Given the description of an element on the screen output the (x, y) to click on. 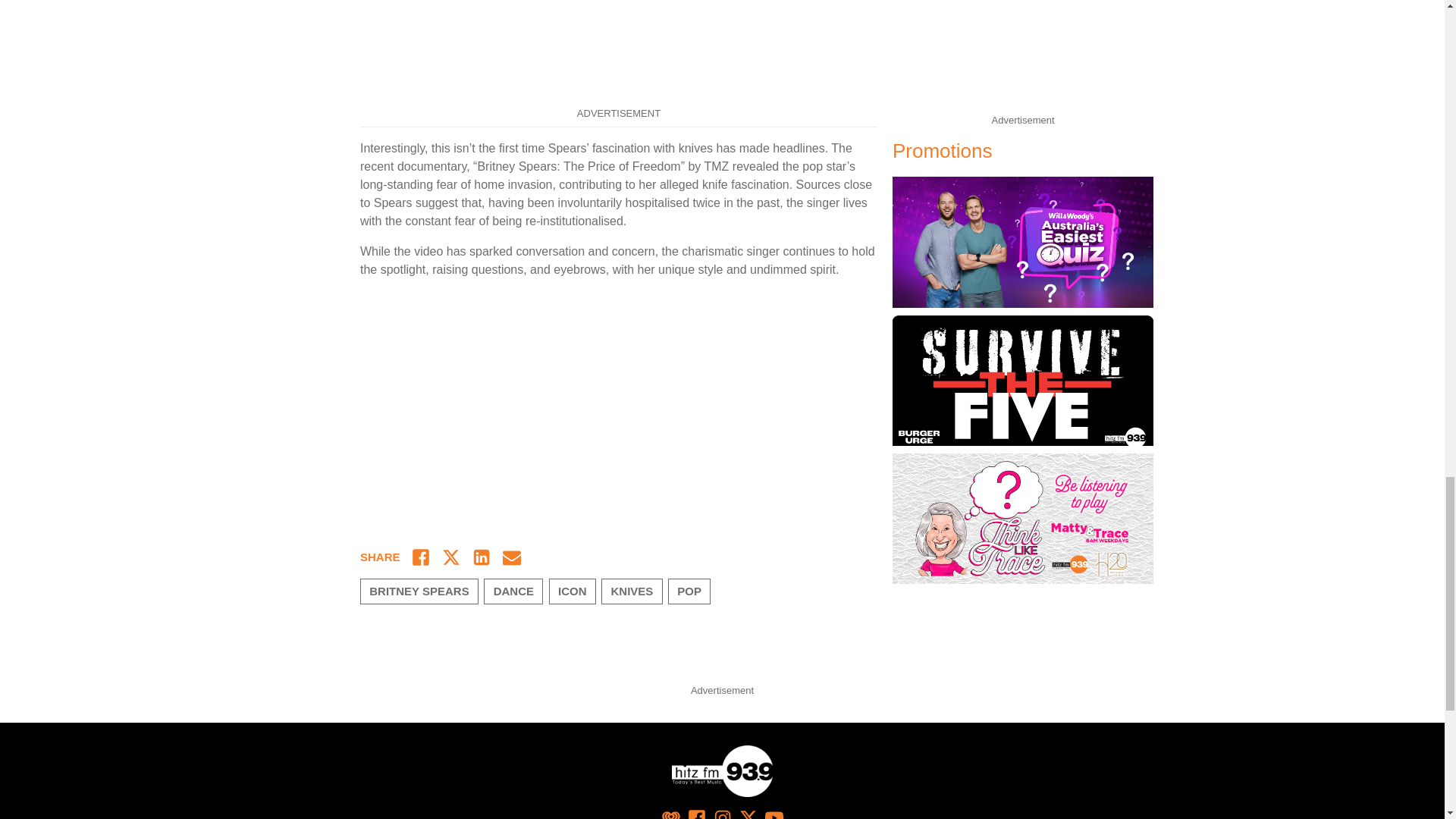
3rd party ad content (618, 50)
3rd party ad content (721, 644)
3rd party ad content (1022, 54)
